Given the description of an element on the screen output the (x, y) to click on. 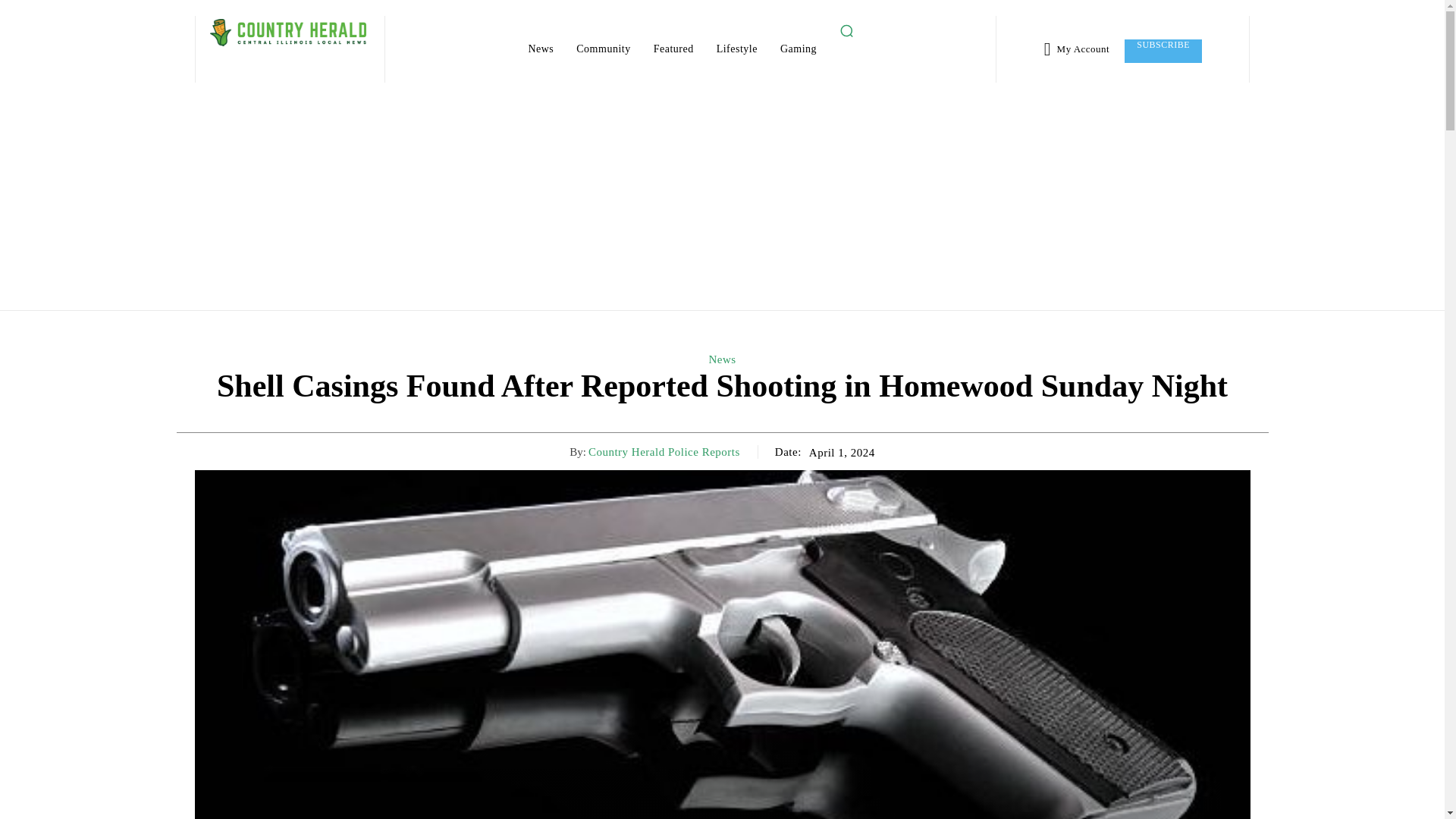
Subscribe (1163, 51)
